Given the description of an element on the screen output the (x, y) to click on. 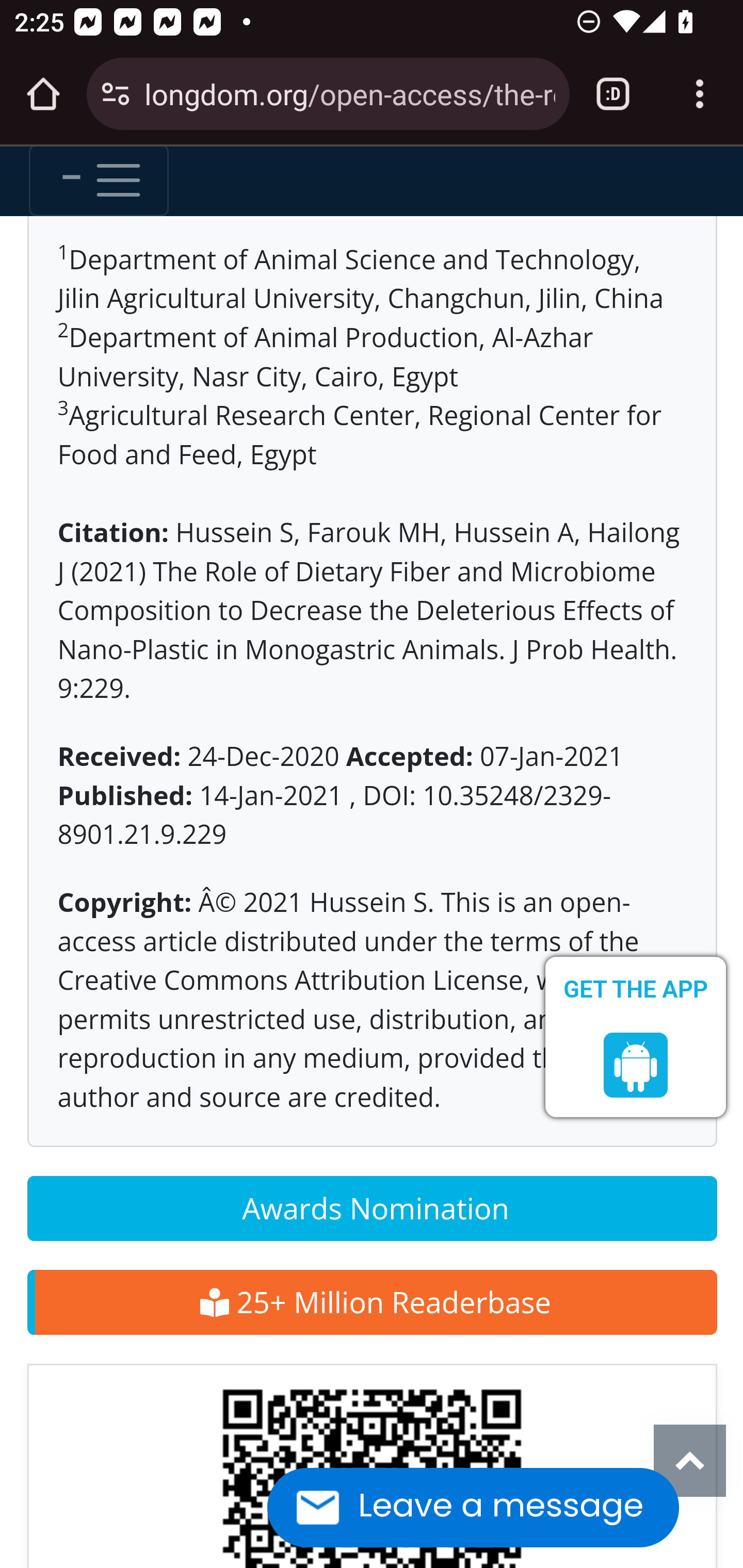
Open the home page (43, 93)
Connection is secure (115, 93)
Switch or close tabs (612, 93)
Customize and control Google Chrome (699, 93)
Toggle navigation (98, 180)
 (636, 1066)
Awards Nomination (371, 1210)
 25+ Million Readerbase   25+ Million Readerbase (371, 1304)
Top (690, 1462)
